Given the description of an element on the screen output the (x, y) to click on. 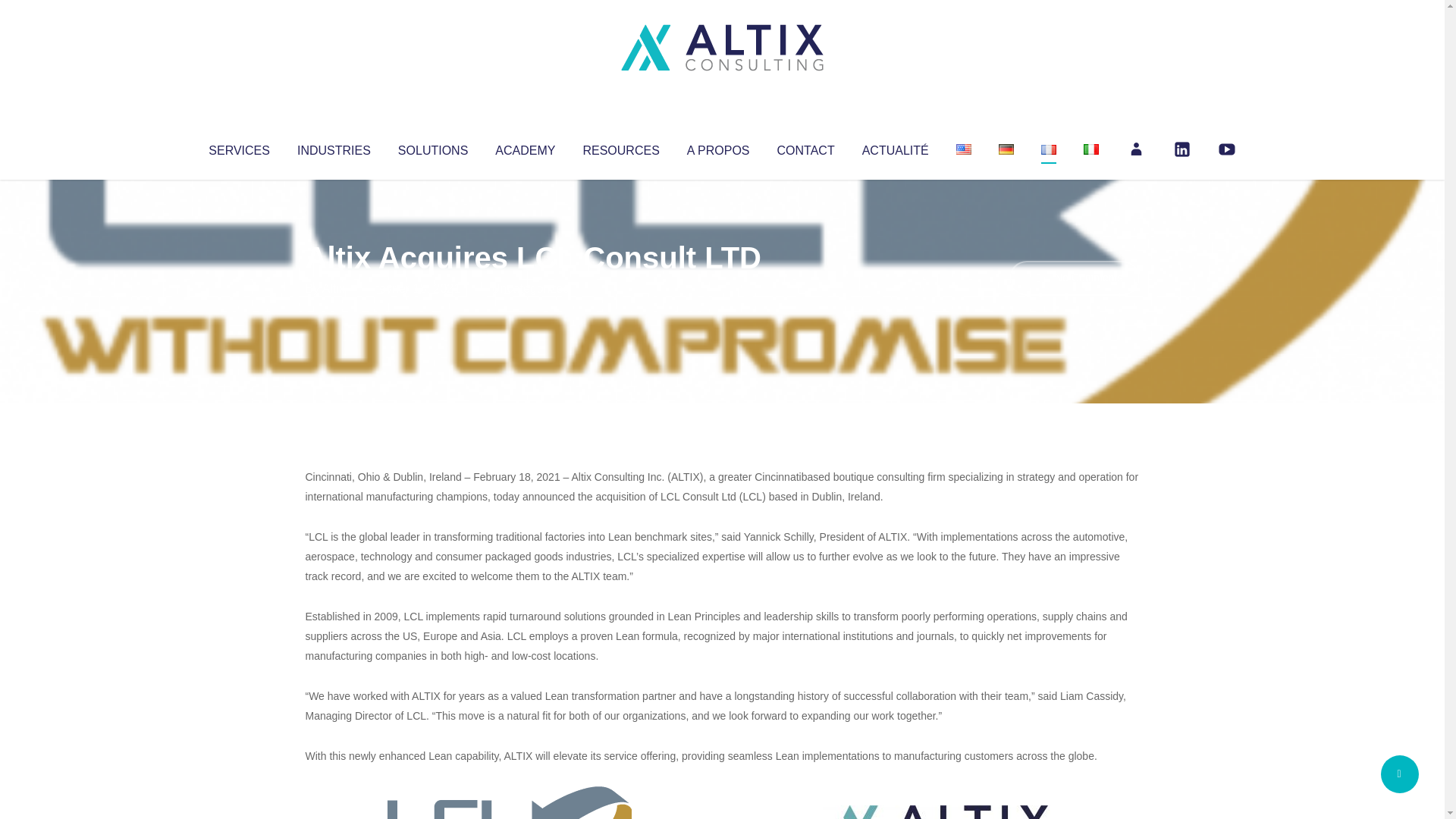
No Comments (1073, 278)
A PROPOS (718, 146)
Uncategorized (530, 287)
Articles par Altix (333, 287)
Altix (333, 287)
INDUSTRIES (334, 146)
SOLUTIONS (432, 146)
ACADEMY (524, 146)
SERVICES (238, 146)
RESOURCES (620, 146)
